Given the description of an element on the screen output the (x, y) to click on. 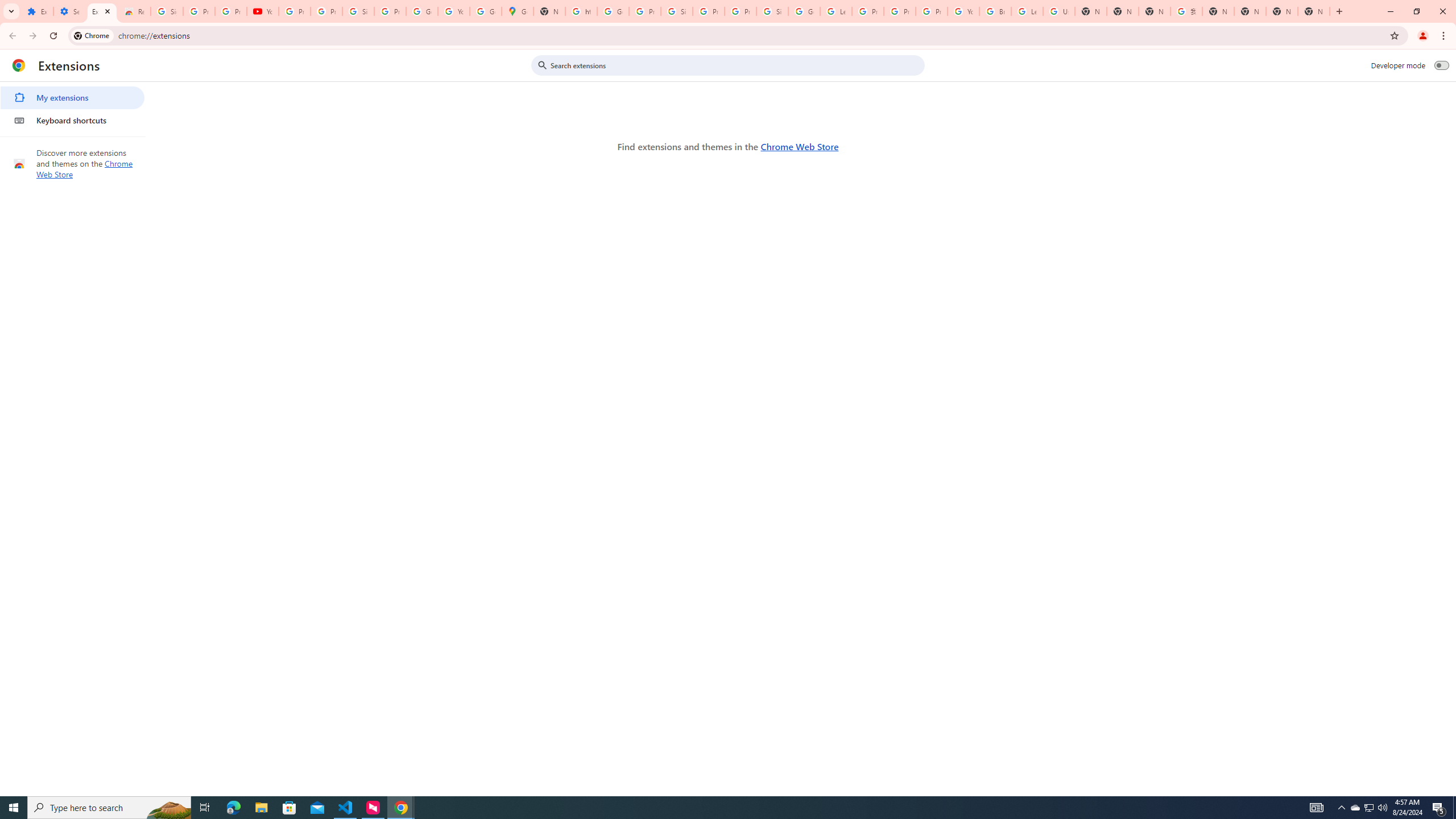
Sign in - Google Accounts (772, 11)
Privacy Help Center - Policies Help (868, 11)
Search extensions (735, 65)
Reviews: Helix Fruit Jump Arcade Game (134, 11)
YouTube (453, 11)
Developer mode (1442, 64)
Sign in - Google Accounts (358, 11)
